Given the description of an element on the screen output the (x, y) to click on. 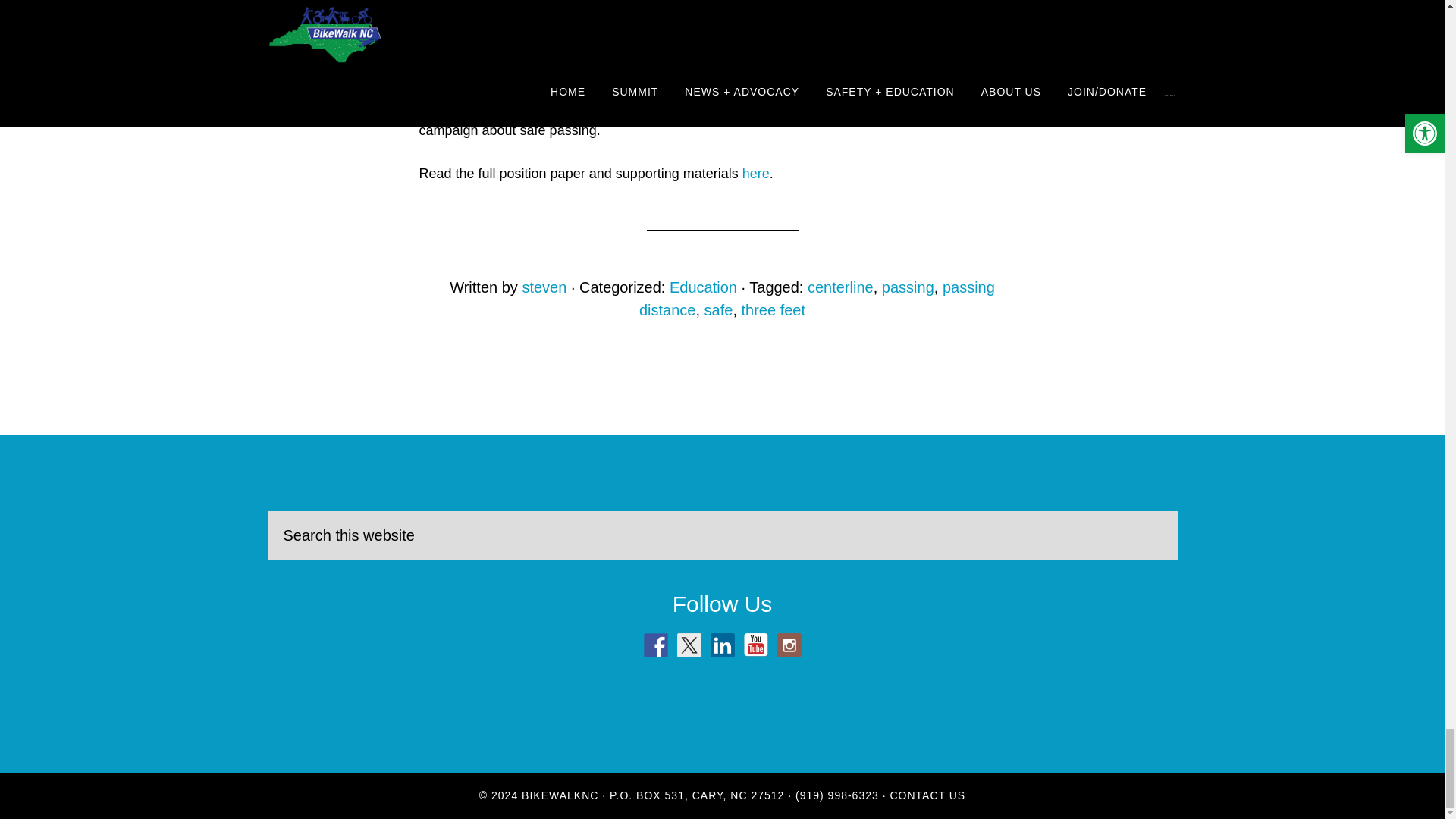
Check out our instagram feed (788, 645)
Follow us on Twitter (688, 645)
Find us on YouTube (754, 645)
Follow us on Facebook (654, 645)
Find us on Linkedin (721, 645)
